Given the description of an element on the screen output the (x, y) to click on. 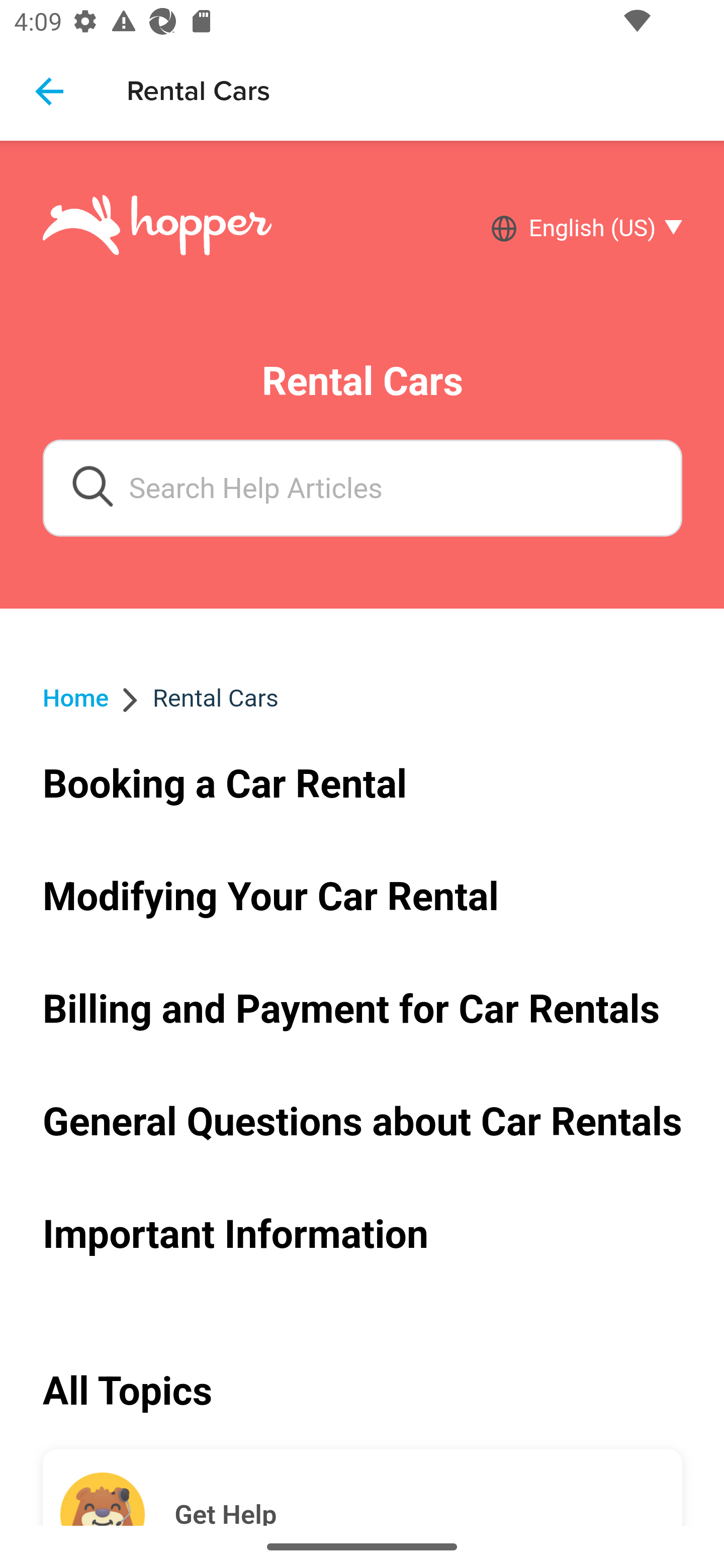
Navigate up (49, 91)
Brand logo (156, 227)
English (US) (599, 228)
Home (75, 697)
Get Help (428, 1487)
